Given the description of an element on the screen output the (x, y) to click on. 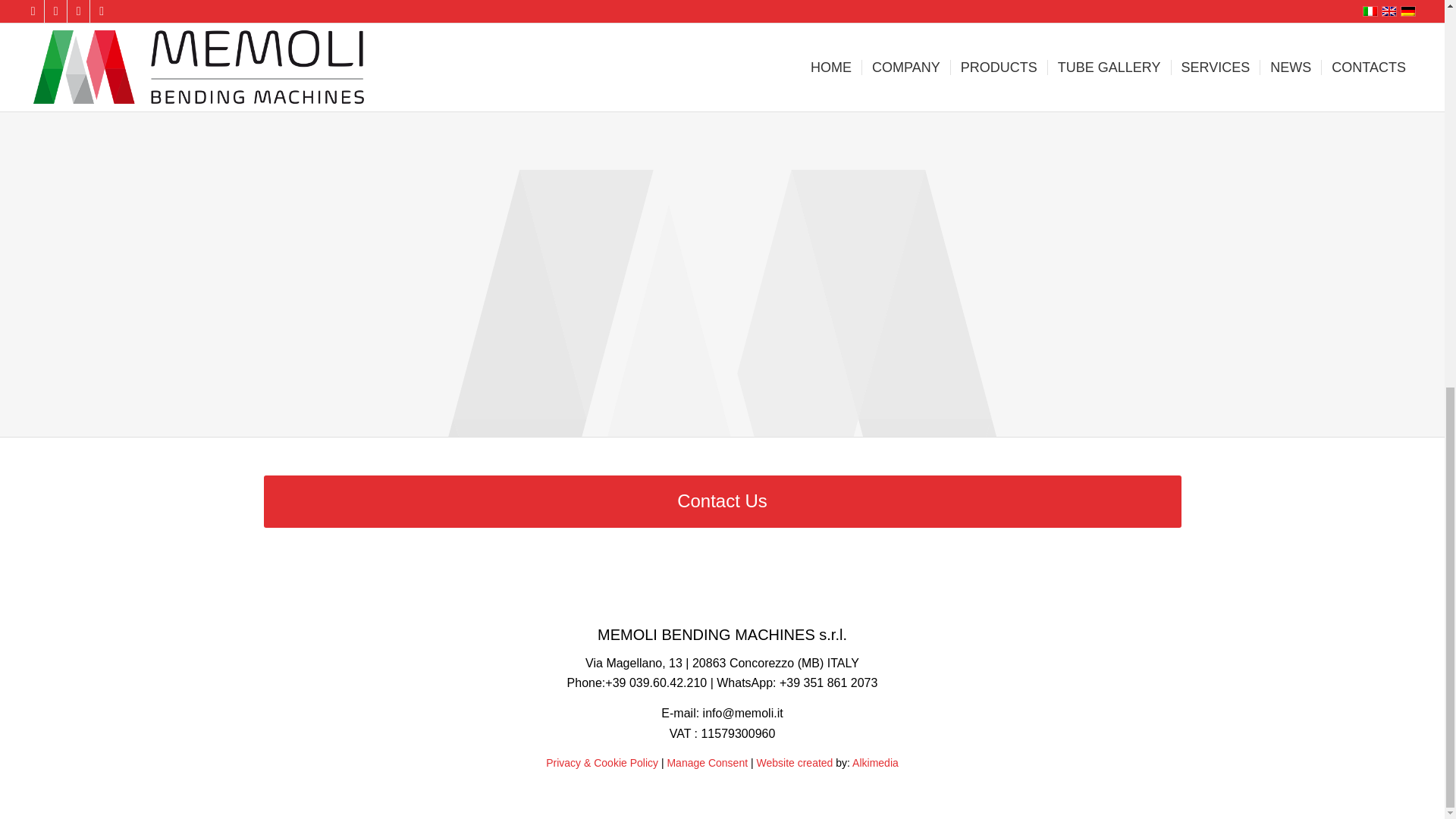
Website created (794, 762)
Manage Consent (707, 762)
Alkimedia (874, 762)
Contact Us (721, 501)
